Given the description of an element on the screen output the (x, y) to click on. 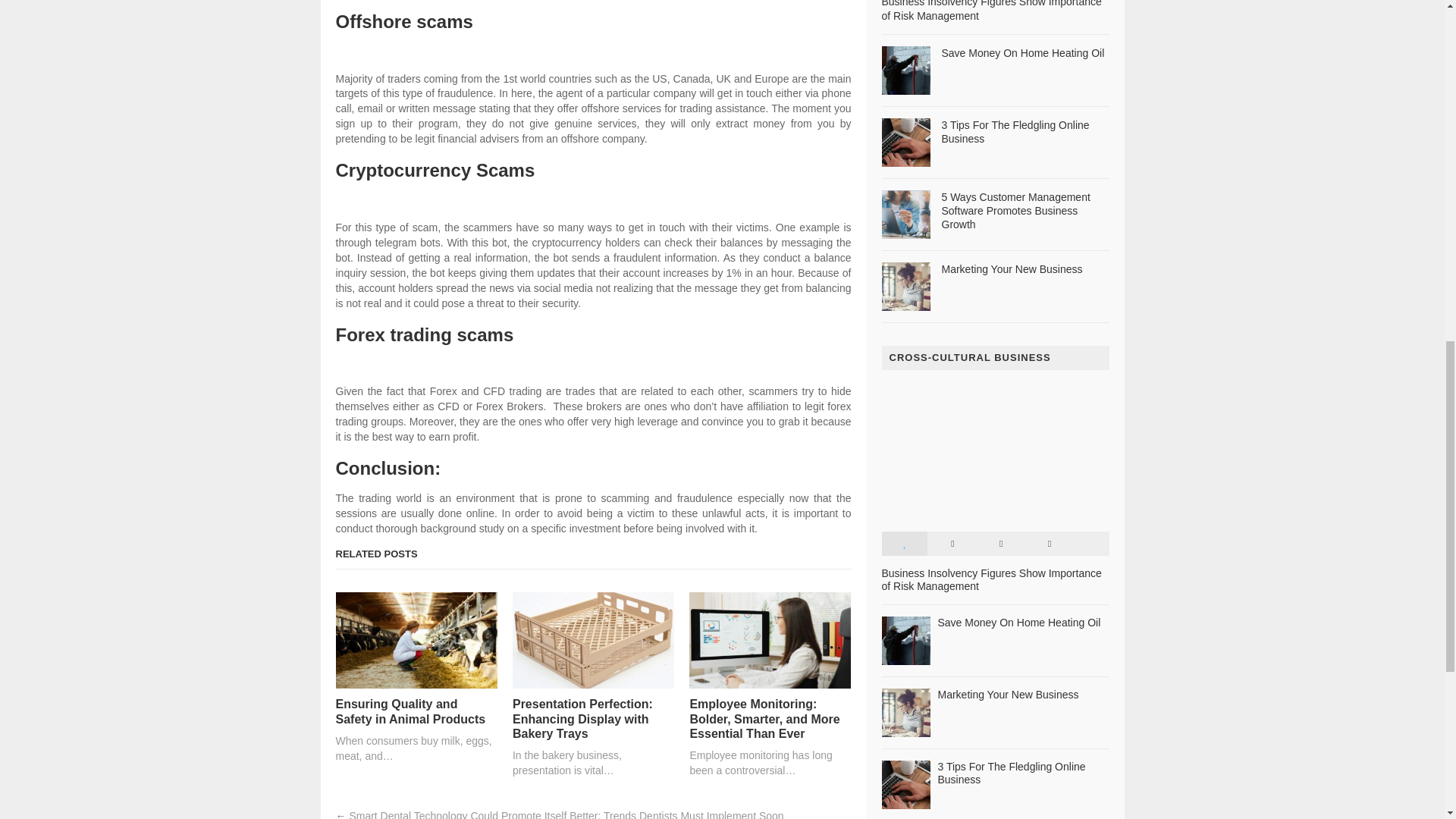
Comments (1000, 543)
Latest (952, 543)
Popular (903, 543)
Tags (1048, 543)
